Given the description of an element on the screen output the (x, y) to click on. 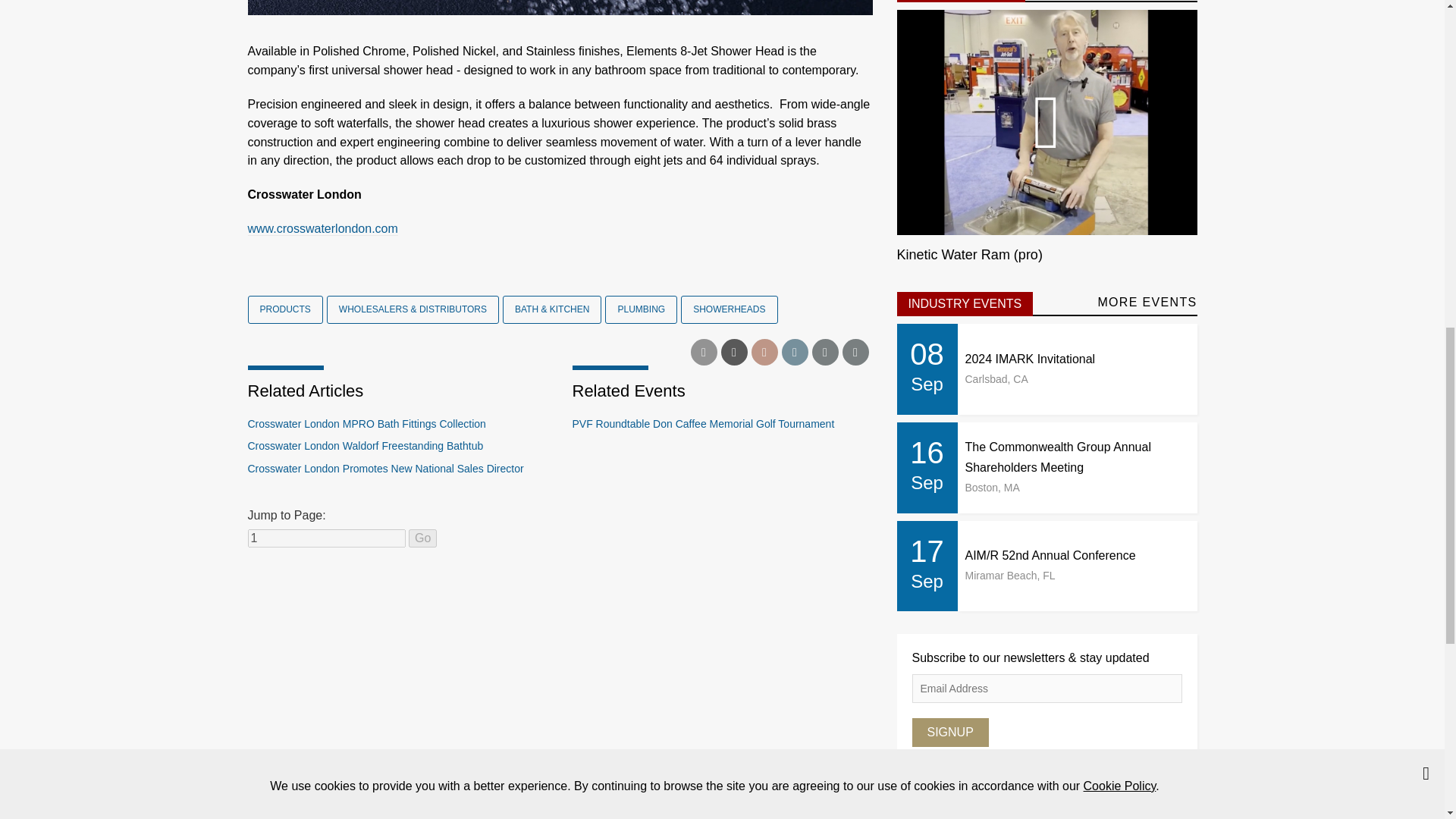
SIGNUP (949, 732)
1 (325, 538)
Go (422, 538)
